Given the description of an element on the screen output the (x, y) to click on. 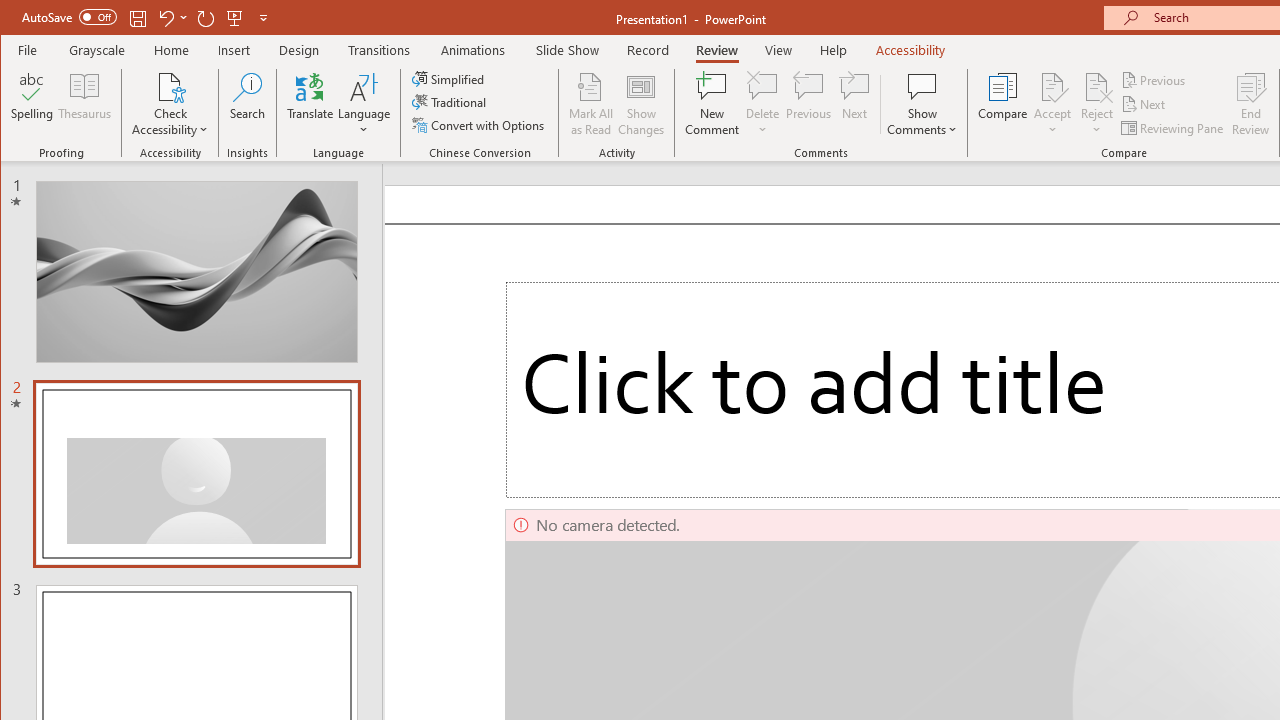
Accept Change (1052, 86)
Show Changes (640, 104)
Convert with Options... (479, 124)
Reject (1096, 104)
